Given the description of an element on the screen output the (x, y) to click on. 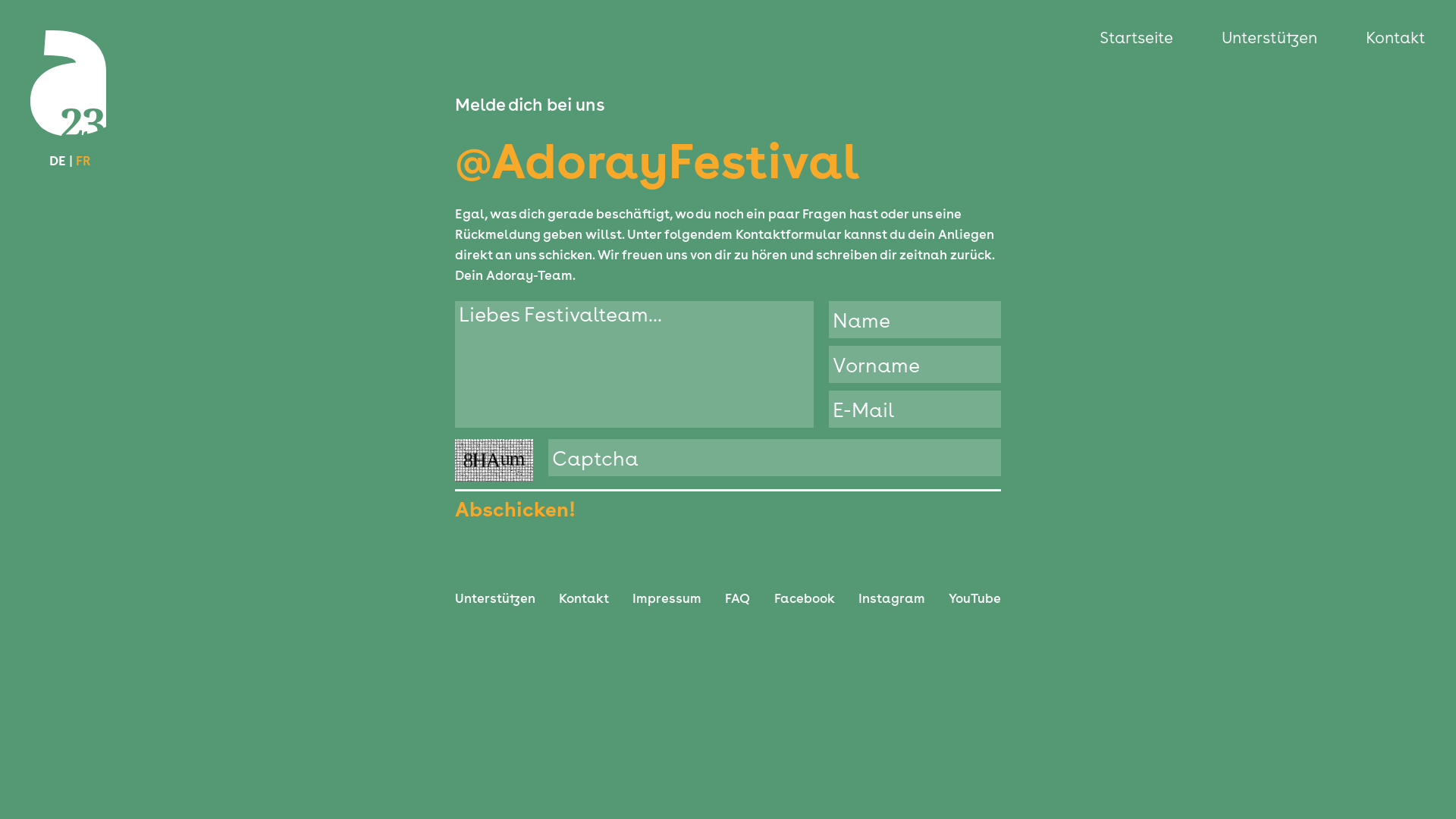
YouTube Element type: text (974, 598)
Abschicken! Element type: text (515, 508)
Kontakt Element type: text (583, 598)
Instagram Element type: text (891, 598)
Startseite Element type: text (1151, 37)
Impressum Element type: text (666, 598)
FR Element type: text (83, 160)
Facebook Element type: text (804, 598)
FAQ Element type: text (737, 598)
